Given the description of an element on the screen output the (x, y) to click on. 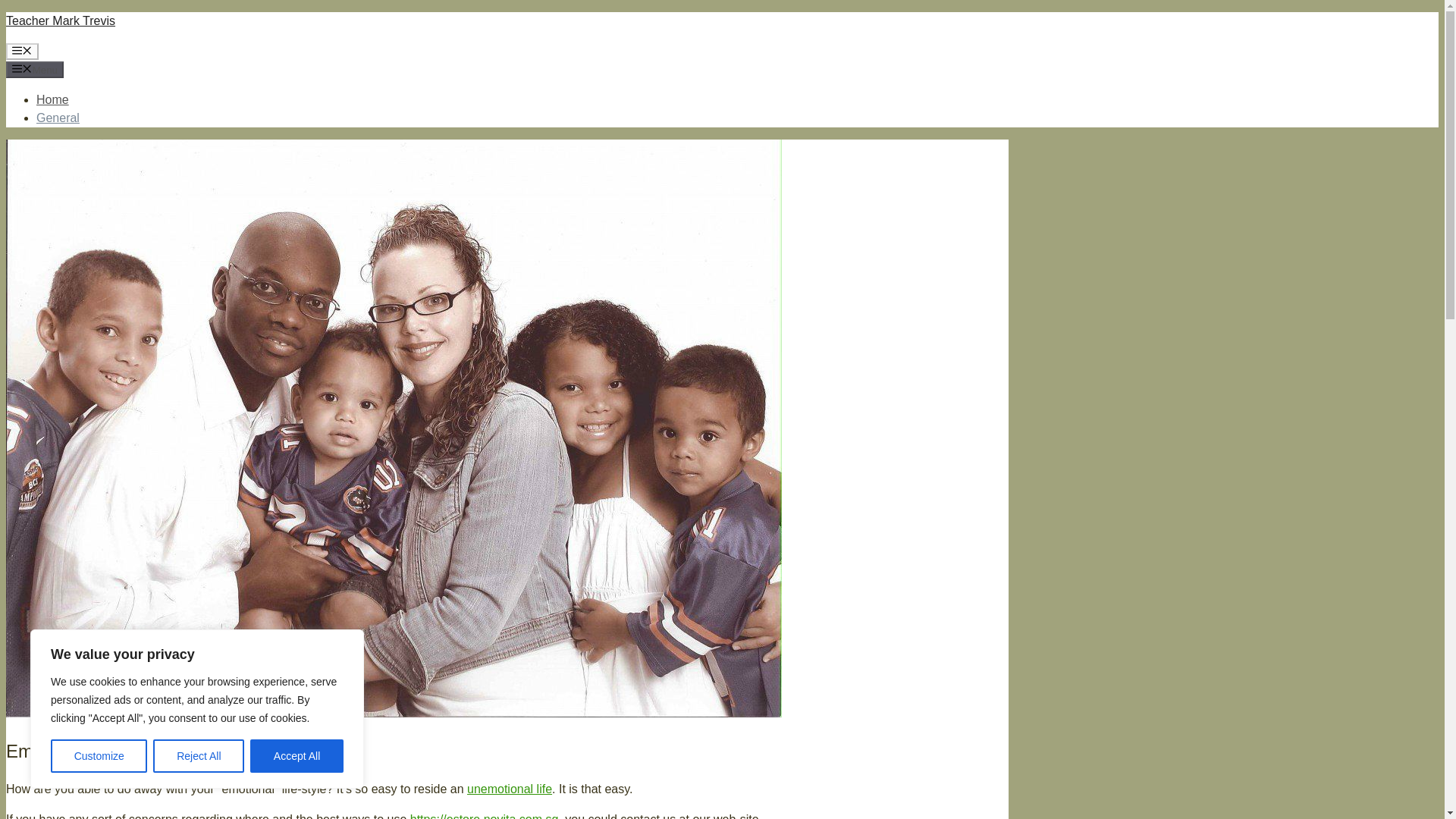
Reject All (198, 756)
Customize (98, 756)
Menu (34, 69)
Home (52, 99)
Teacher Mark Trevis (60, 20)
Menu (22, 51)
General (58, 117)
Accept All (296, 756)
unemotional life (509, 788)
